Given the description of an element on the screen output the (x, y) to click on. 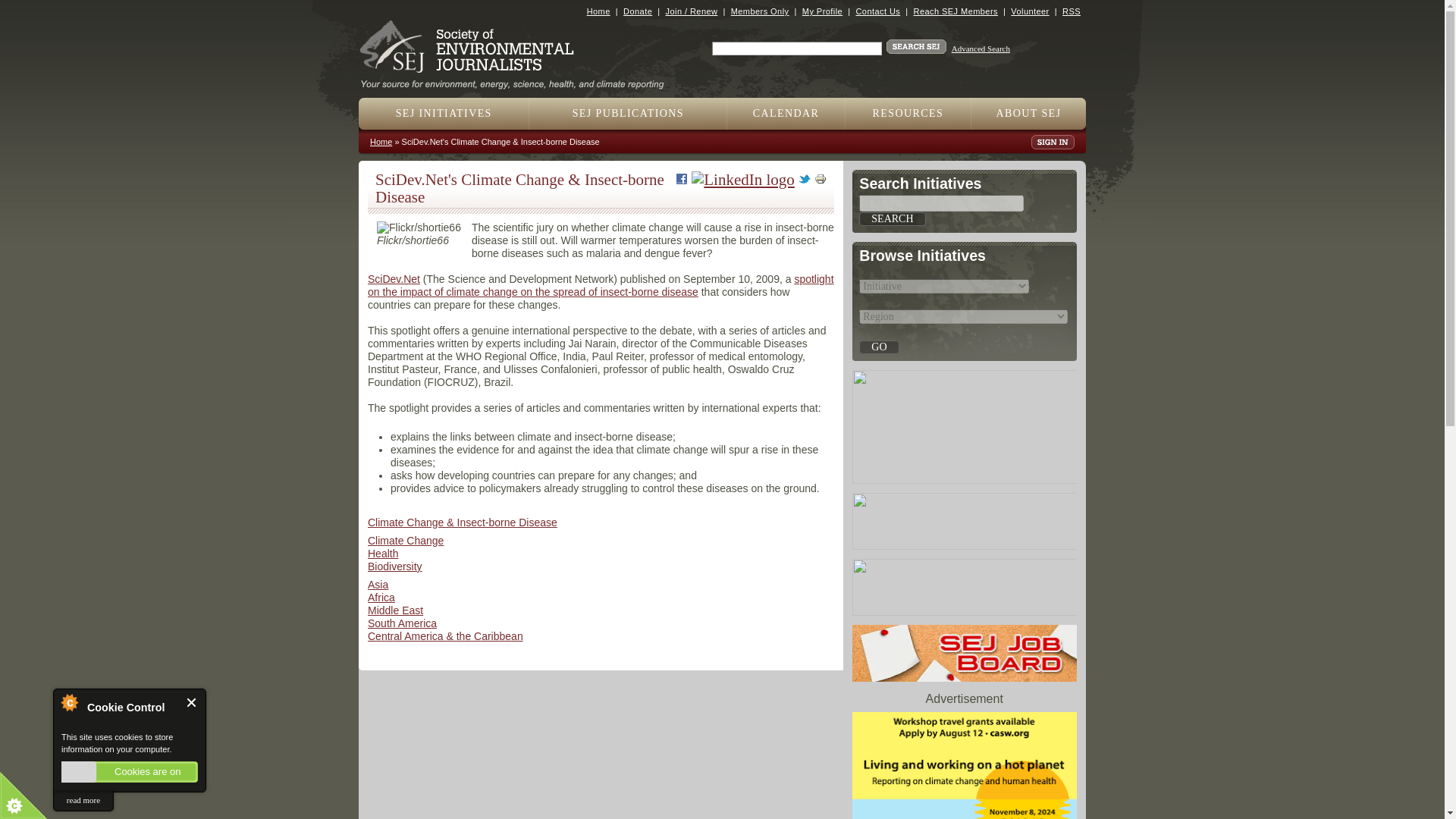
My Profile (822, 10)
Cookies are on (129, 772)
Go (878, 346)
Contact Us (877, 10)
read more (82, 801)
Close (191, 702)
Home (518, 79)
Donate (637, 10)
Search (891, 219)
Enter the terms you wish to search for. (796, 48)
